Given the description of an element on the screen output the (x, y) to click on. 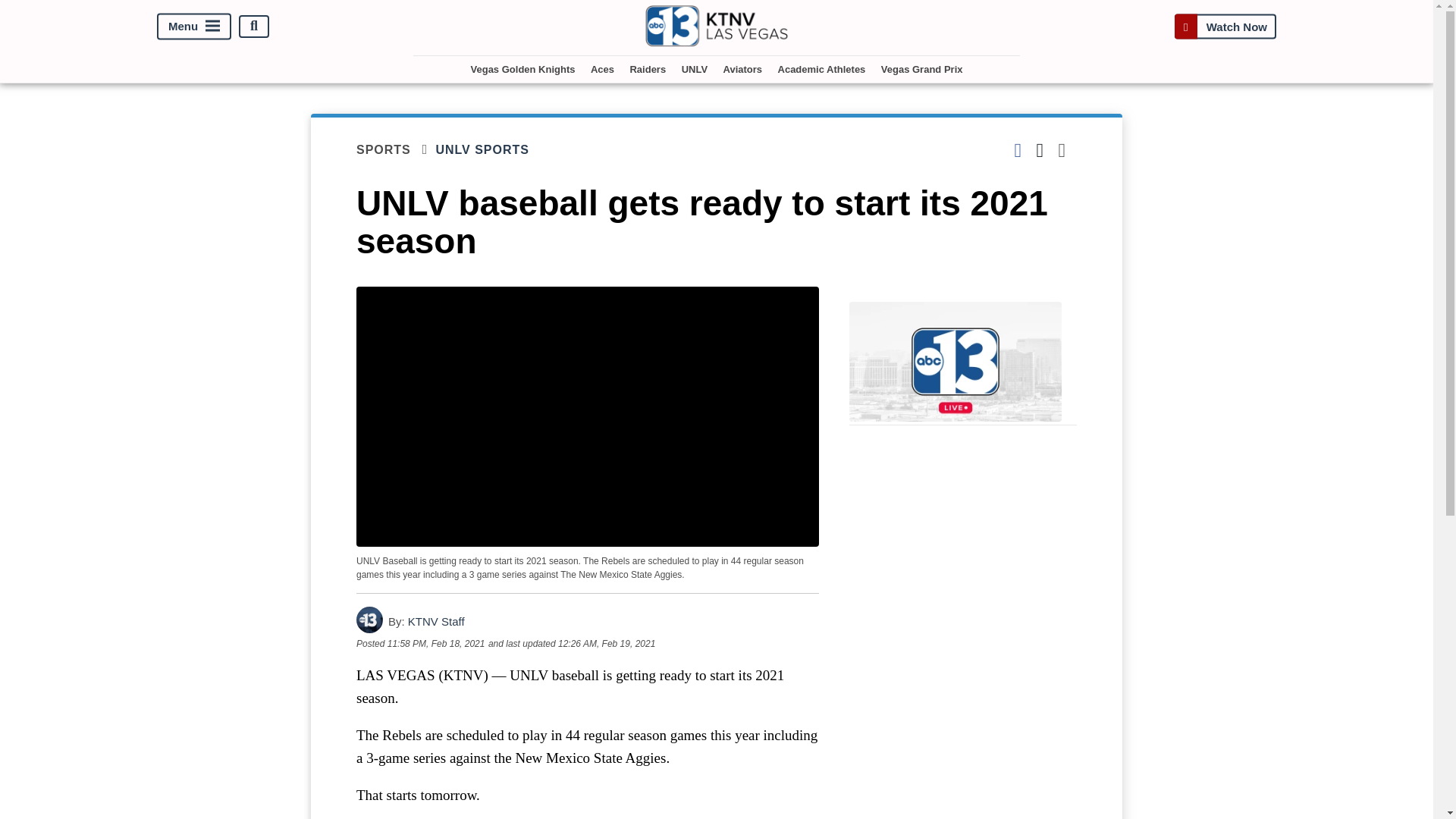
Watch Now (1224, 25)
Menu (194, 26)
